Given the description of an element on the screen output the (x, y) to click on. 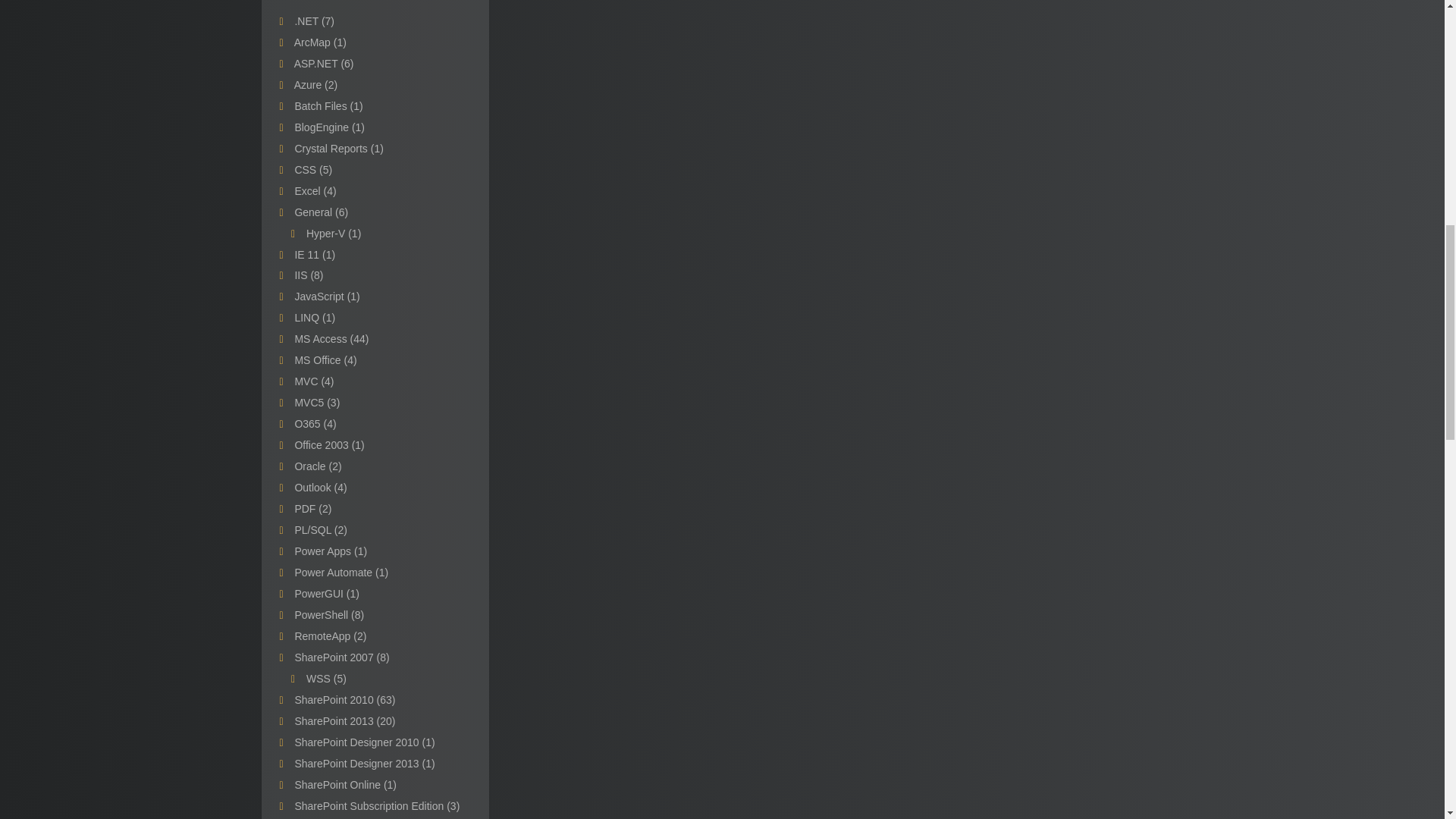
Category: ASP.NET (323, 63)
Category: Azure (315, 84)
Category: Batch Files (328, 105)
Category: .NET (314, 21)
Category: Crystal Reports (338, 148)
Category: ArcMap (320, 42)
Category: BlogEngine (329, 127)
